Given the description of an element on the screen output the (x, y) to click on. 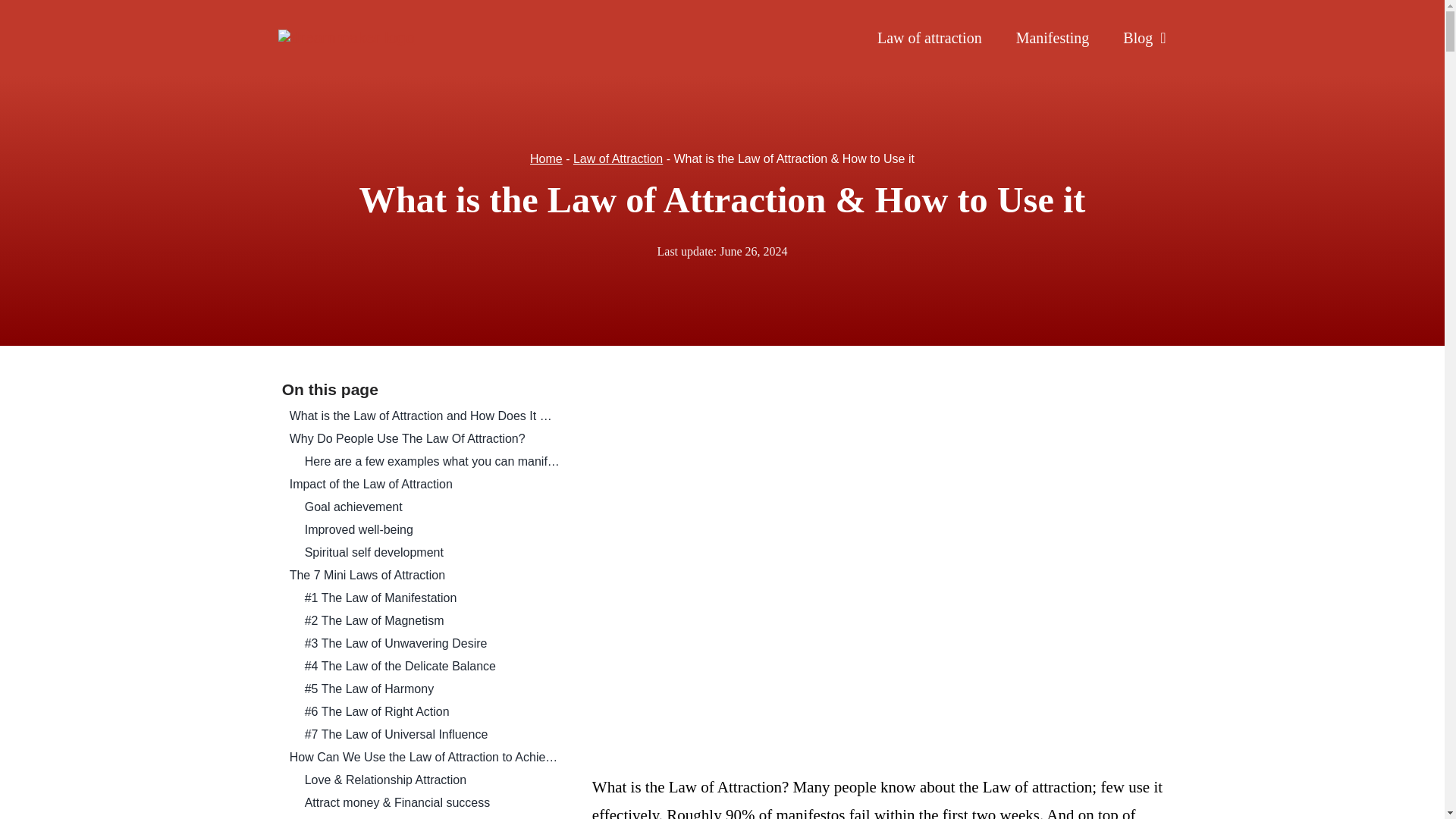
Improved well-being (433, 529)
Law of Attraction (617, 158)
Impact of the Law of Attraction (425, 484)
Spiritual self development (433, 552)
Manifesting (1052, 37)
Here are a few examples what you can manifest: (433, 461)
The 7 Mini Laws of Attraction (425, 575)
Improve Your Well-being (433, 816)
Law of attraction (929, 37)
Home (545, 158)
Goal achievement (433, 506)
What is the Law of Attraction and How Does It Work? (425, 415)
Why Do People Use The Law Of Attraction? (425, 438)
